Given the description of an element on the screen output the (x, y) to click on. 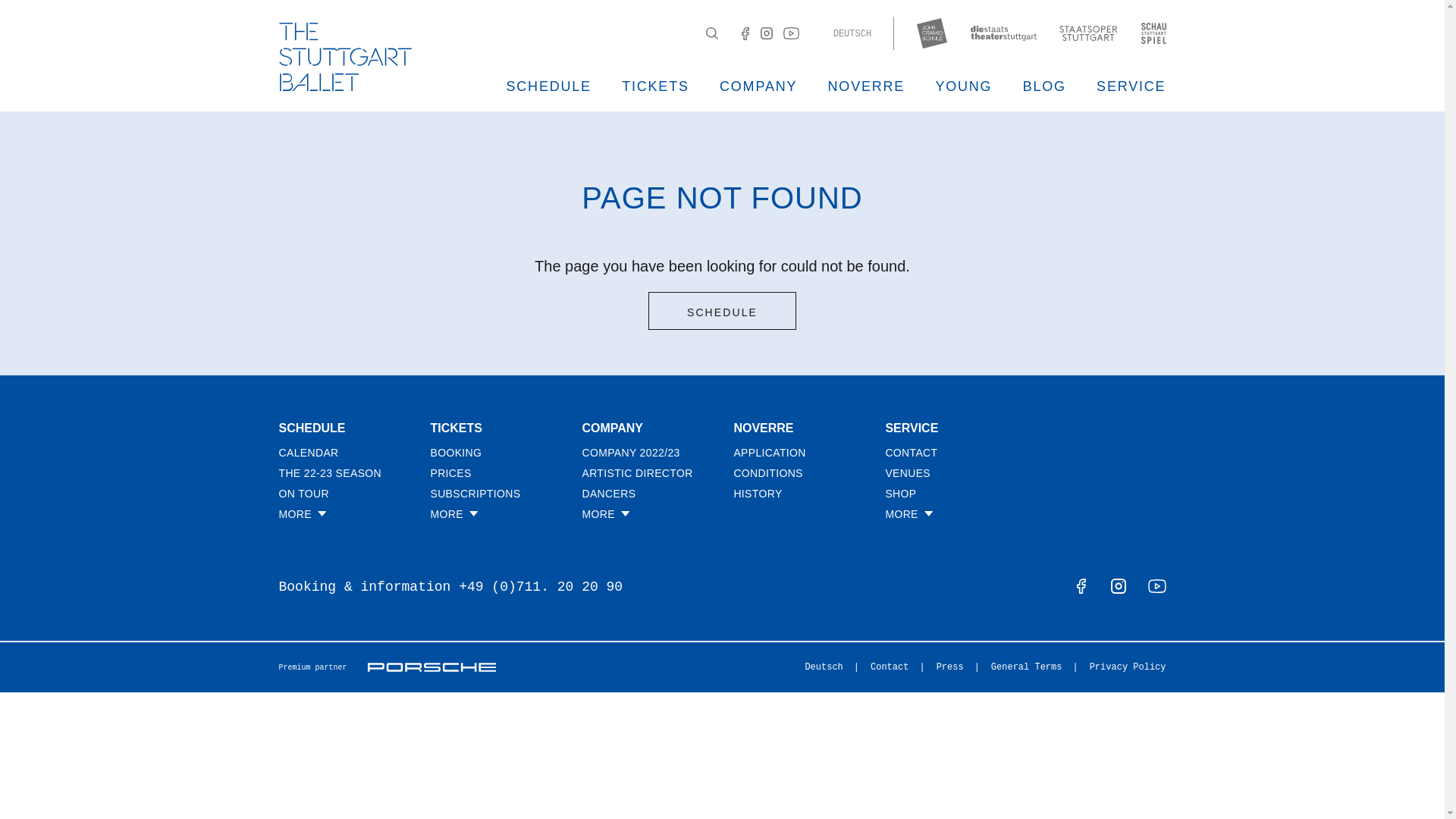
SERVICE (1131, 86)
BLOG (1044, 86)
COMPANY (757, 86)
TICKETS (654, 86)
SCHEDULE (548, 86)
NOVERRE (866, 86)
DEUTSCH (851, 34)
YOUNG (962, 86)
